Given the description of an element on the screen output the (x, y) to click on. 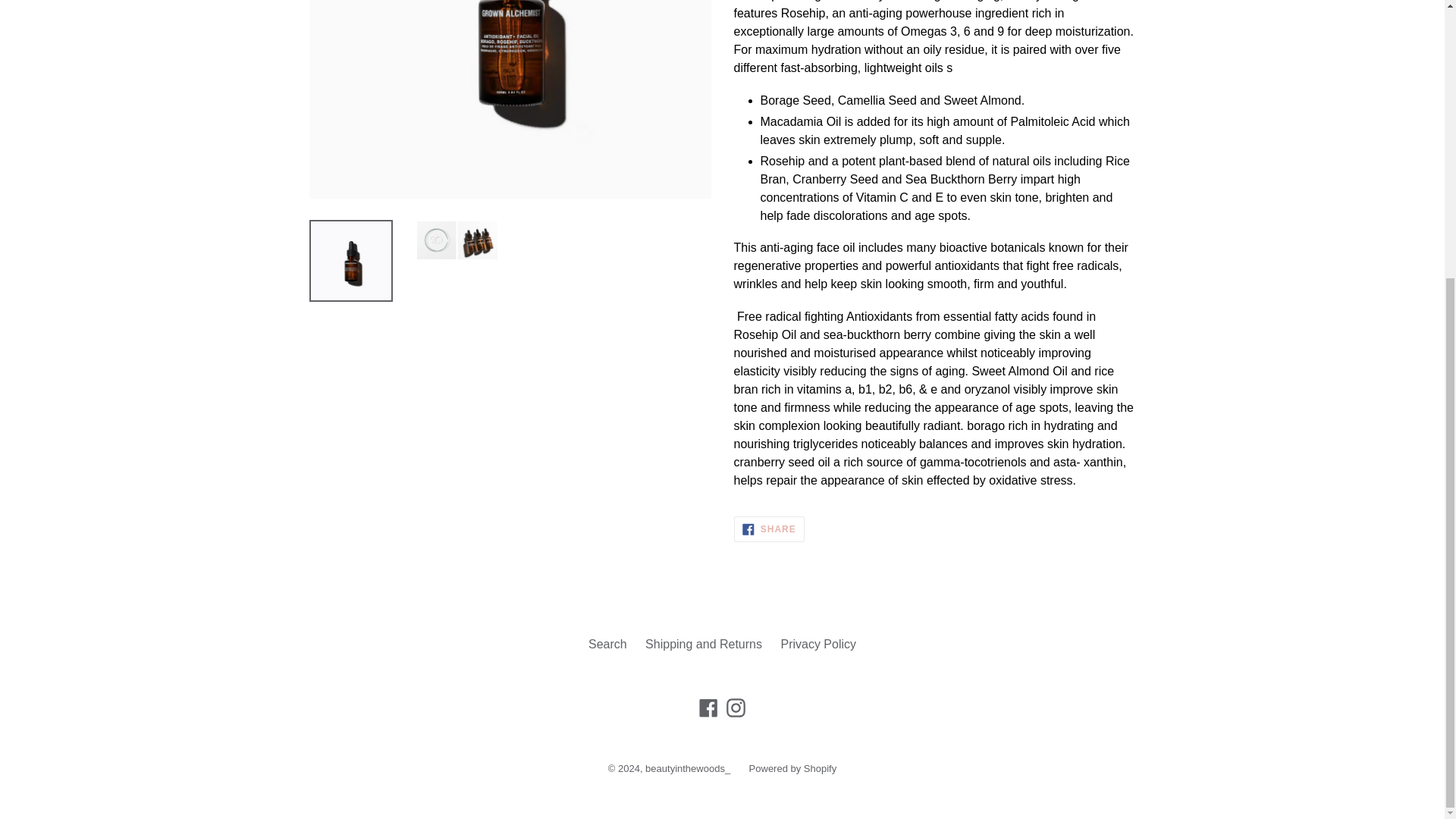
Facebook (708, 707)
Search (607, 644)
Shipping and Returns (769, 529)
Share on Facebook (703, 644)
Instagram (769, 529)
Powered by Shopify (735, 707)
Privacy Policy (793, 767)
